Given the description of an element on the screen output the (x, y) to click on. 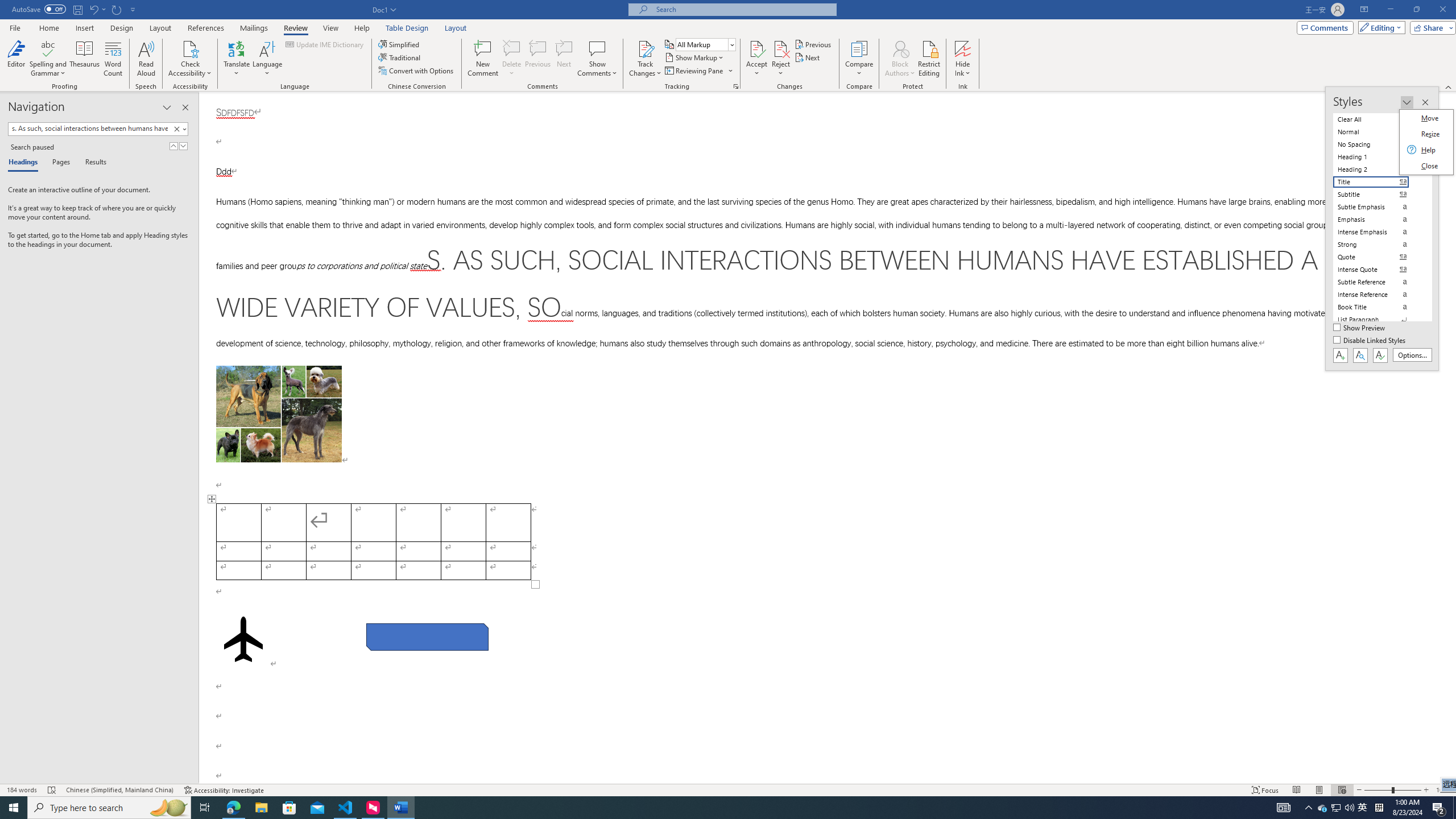
Strong (1377, 244)
Accept and Move to Next (756, 48)
Previous (813, 44)
Traditional (400, 56)
Compare (859, 58)
Class: Net UI Tool Window (1426, 141)
